Given the description of an element on the screen output the (x, y) to click on. 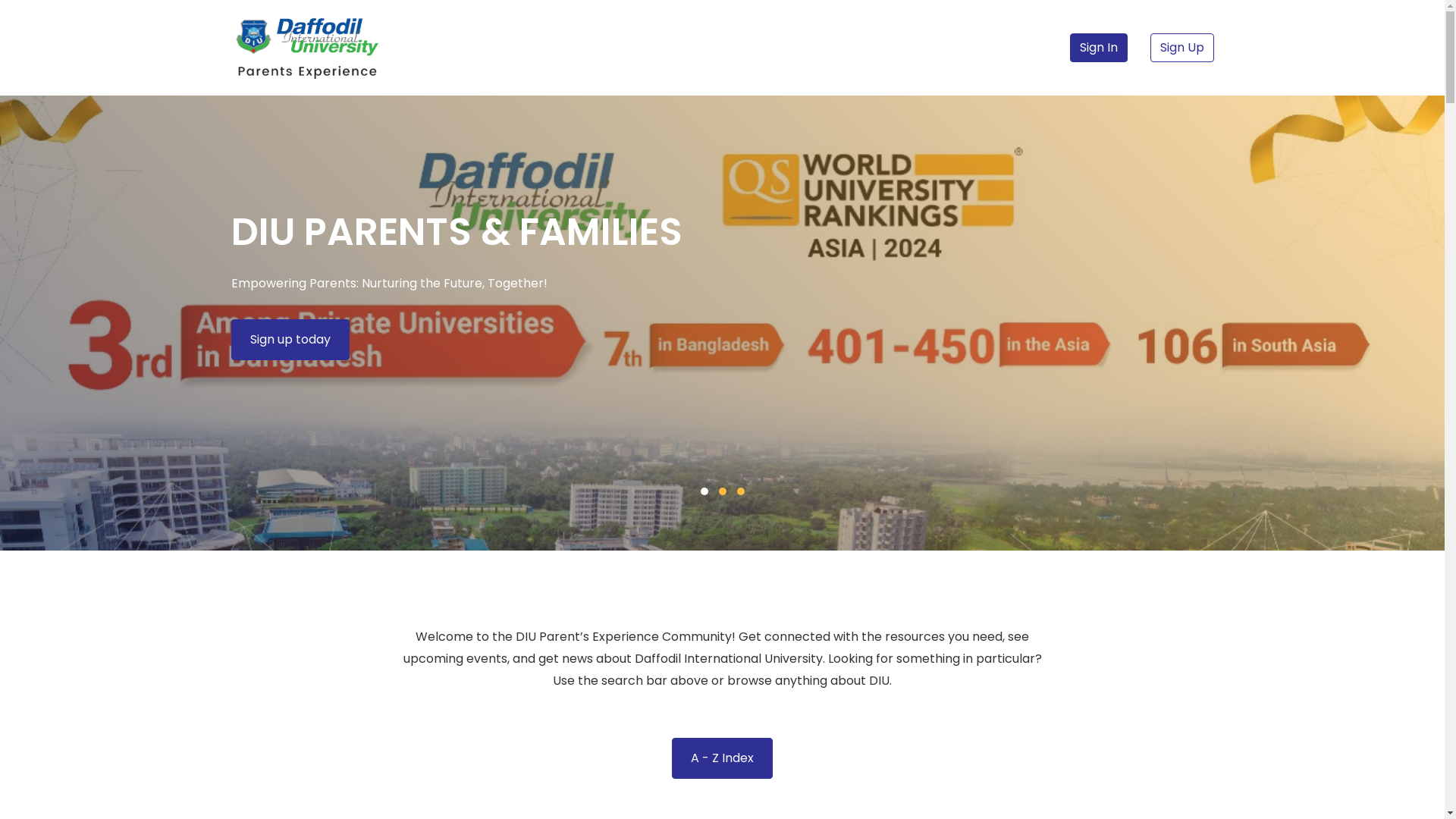
Sign up today Element type: text (289, 339)
Sign Up Element type: text (1181, 47)
Sign In Element type: text (1098, 47)
A - Z Index Element type: text (721, 757)
